Given the description of an element on the screen output the (x, y) to click on. 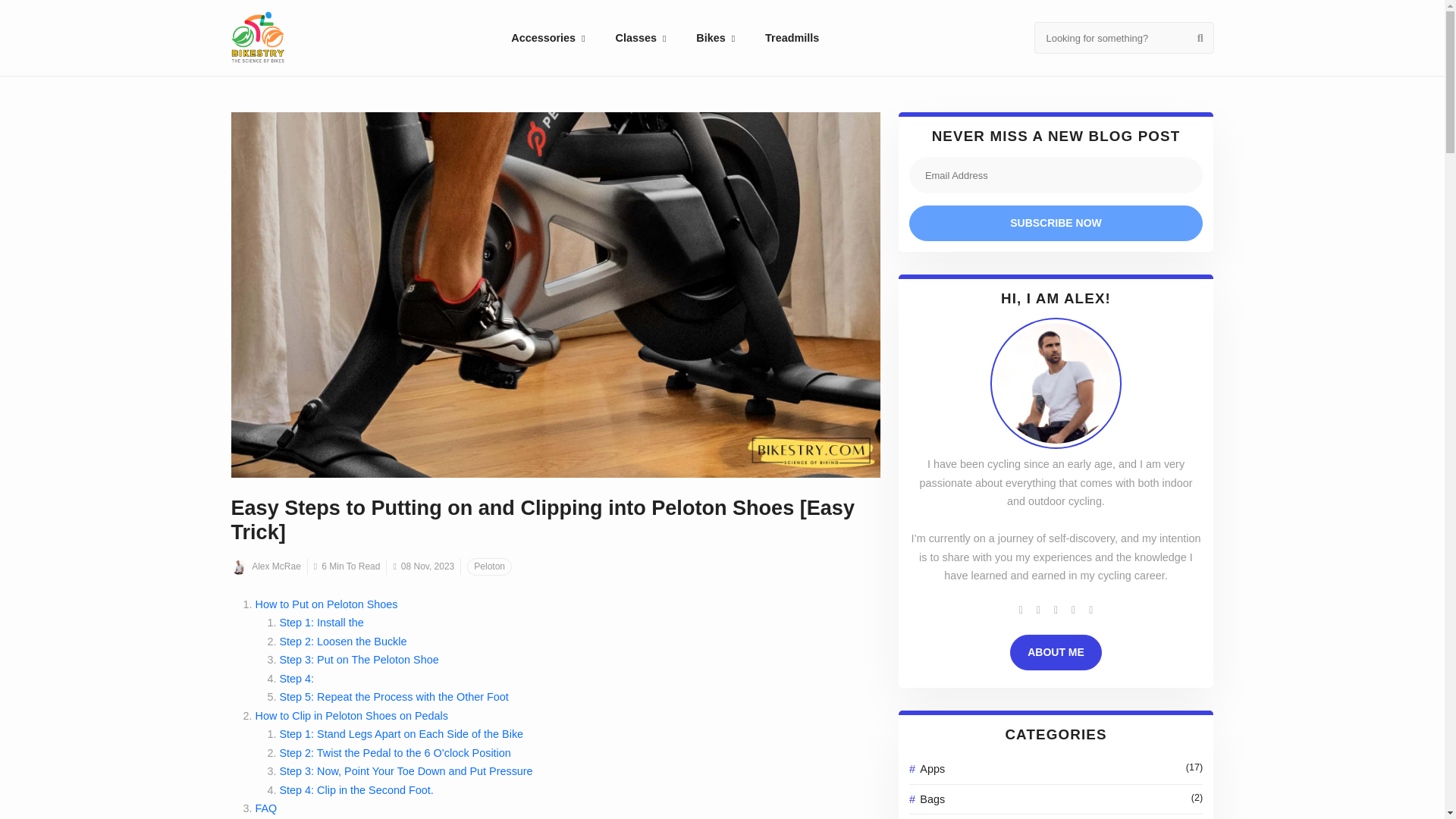
Step 4: Clip in the Second Foot. (355, 789)
Step 5: Repeat the Process with the Other Foot (393, 696)
Step 1: Install the (320, 622)
How to Put on Peloton Shoes (325, 604)
Step 4: (296, 678)
Step 3: Now, Point Your Toe Down and Put Pressure (405, 770)
Step 1: Stand Legs Apart on Each Side of the Bike (400, 734)
Accessories (547, 37)
How to Clip in Peloton Shoes on Pedals (350, 715)
Bikes (715, 37)
Classes (640, 37)
Treadmills (791, 37)
Peloton (489, 565)
Step 2: Loosen the Buckle (342, 641)
Alex McRae (264, 566)
